Given the description of an element on the screen output the (x, y) to click on. 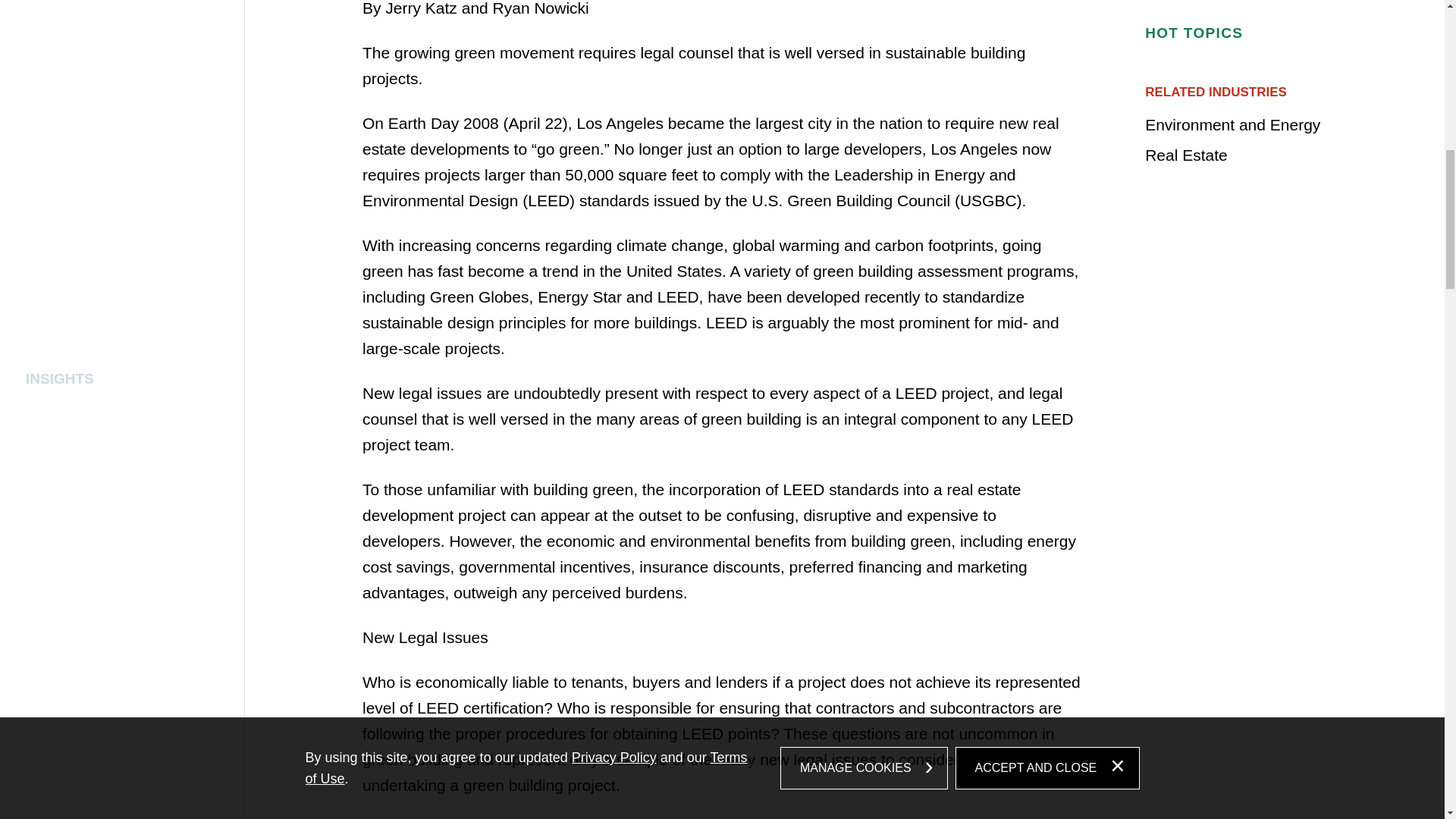
HOT TOPICS (1251, 33)
NEWS (1251, 2)
Environment and Energy (1232, 124)
